Given the description of an element on the screen output the (x, y) to click on. 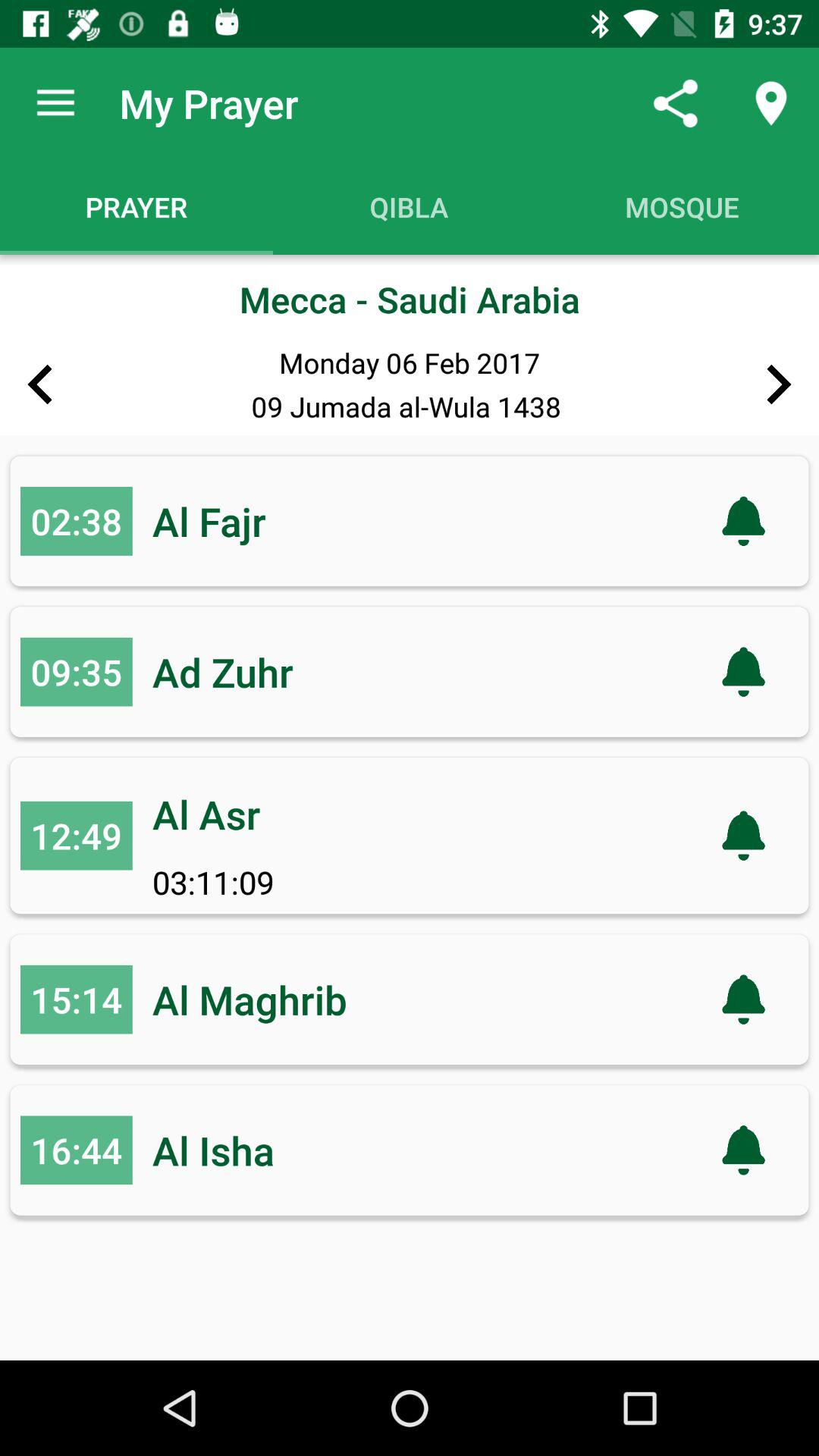
tap the 09:35 item (76, 671)
